Given the description of an element on the screen output the (x, y) to click on. 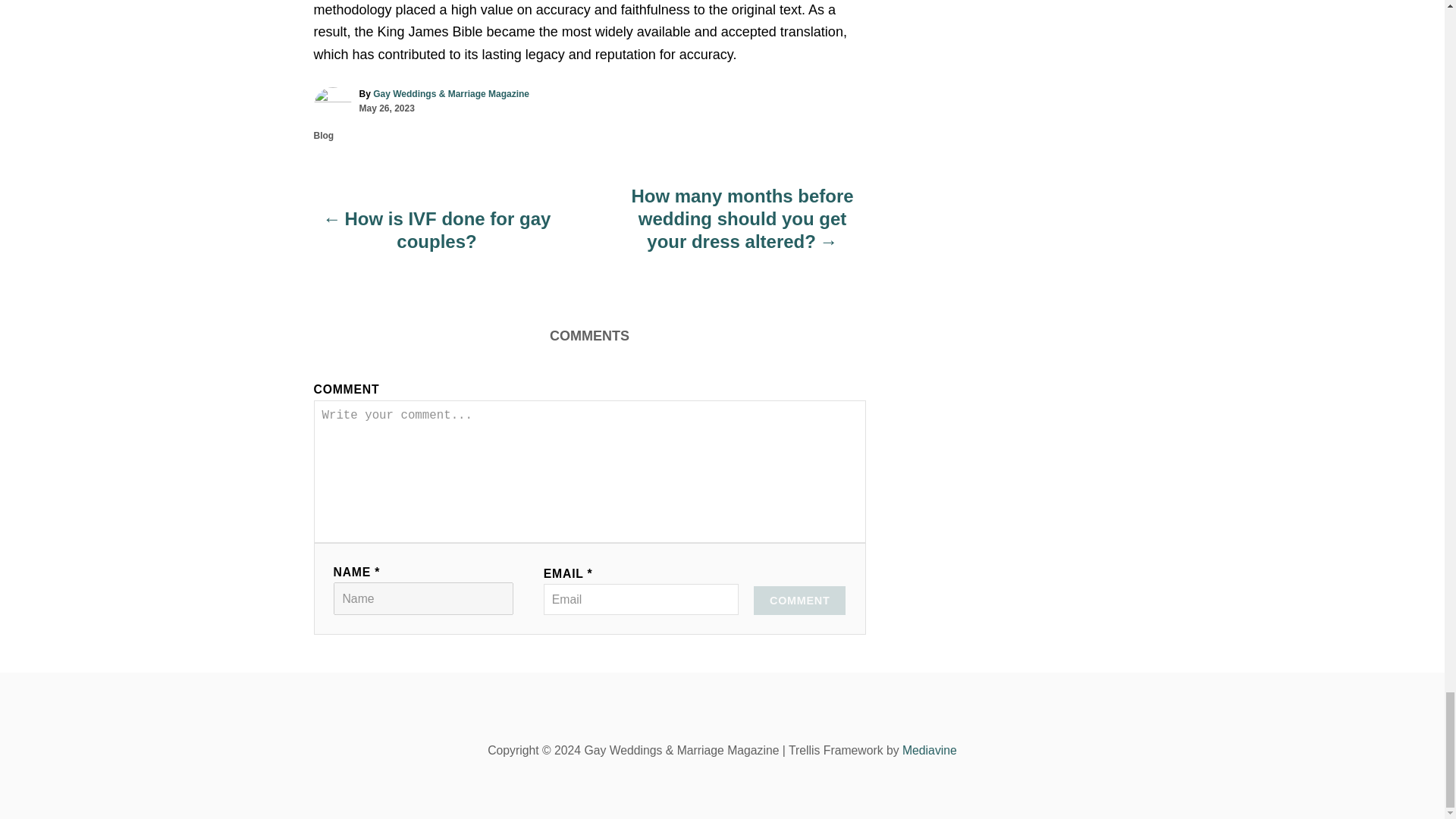
How is IVF done for gay couples? (437, 238)
Mediavine (929, 749)
Blog (324, 135)
COMMENT (799, 600)
